Given the description of an element on the screen output the (x, y) to click on. 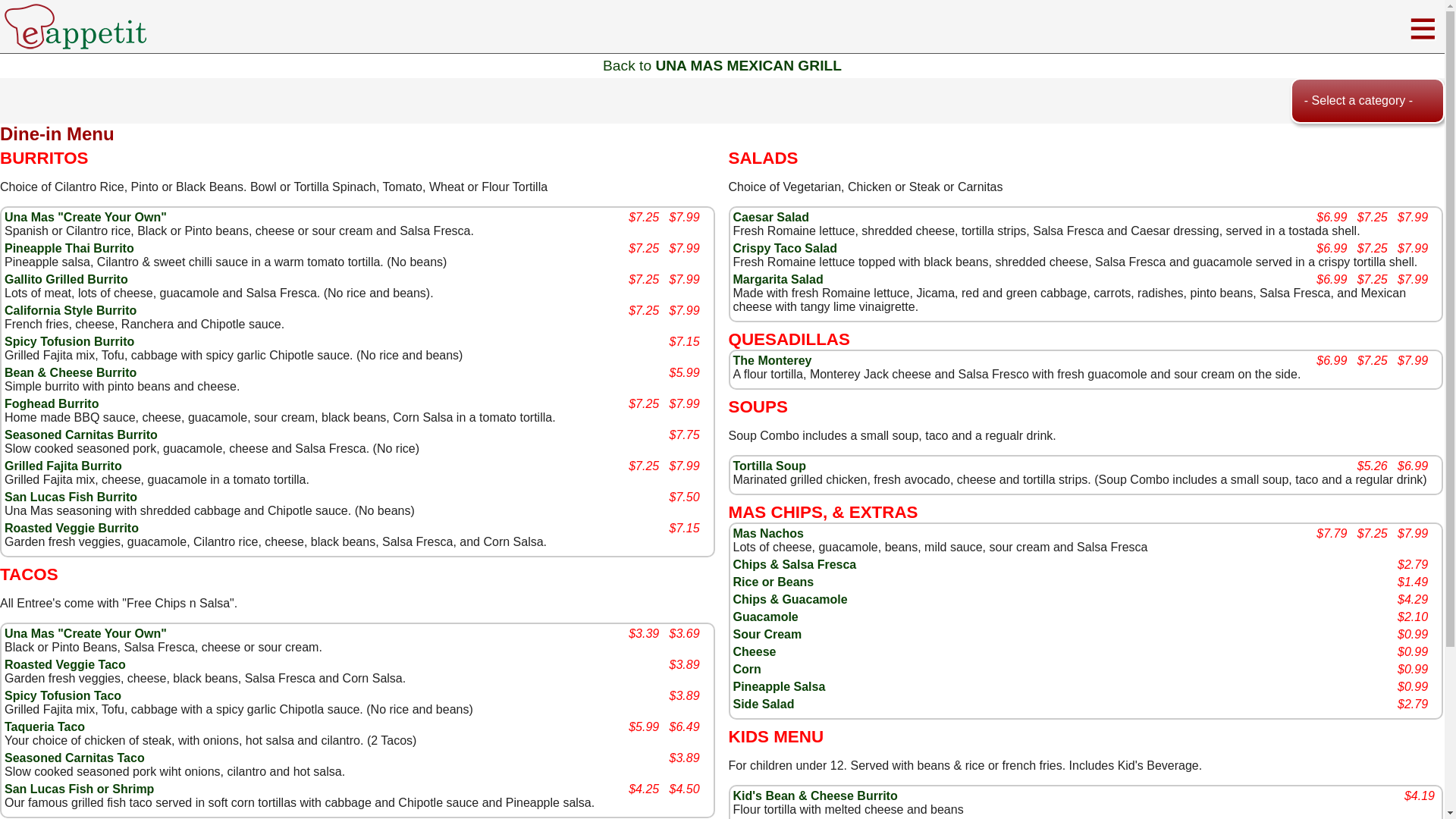
Gallito Grilled Burrito (66, 278)
Tortilla Soup (769, 465)
Taqueria Taco (44, 726)
Roasted Veggie Burrito (71, 527)
The Monterey (771, 359)
Una Mas "Create Your Own" (85, 216)
Margarita Salad (777, 278)
Pineapple Thai Burrito (68, 247)
Seasoned Carnitas Taco (74, 757)
Eappetit (75, 26)
Caesar Salad (770, 216)
California Style Burrito (70, 309)
Back to UNA MAS MEXICAN GRILL (721, 65)
Mas Nachos (767, 533)
Spicy Tofusion Taco (62, 695)
